Given the description of an element on the screen output the (x, y) to click on. 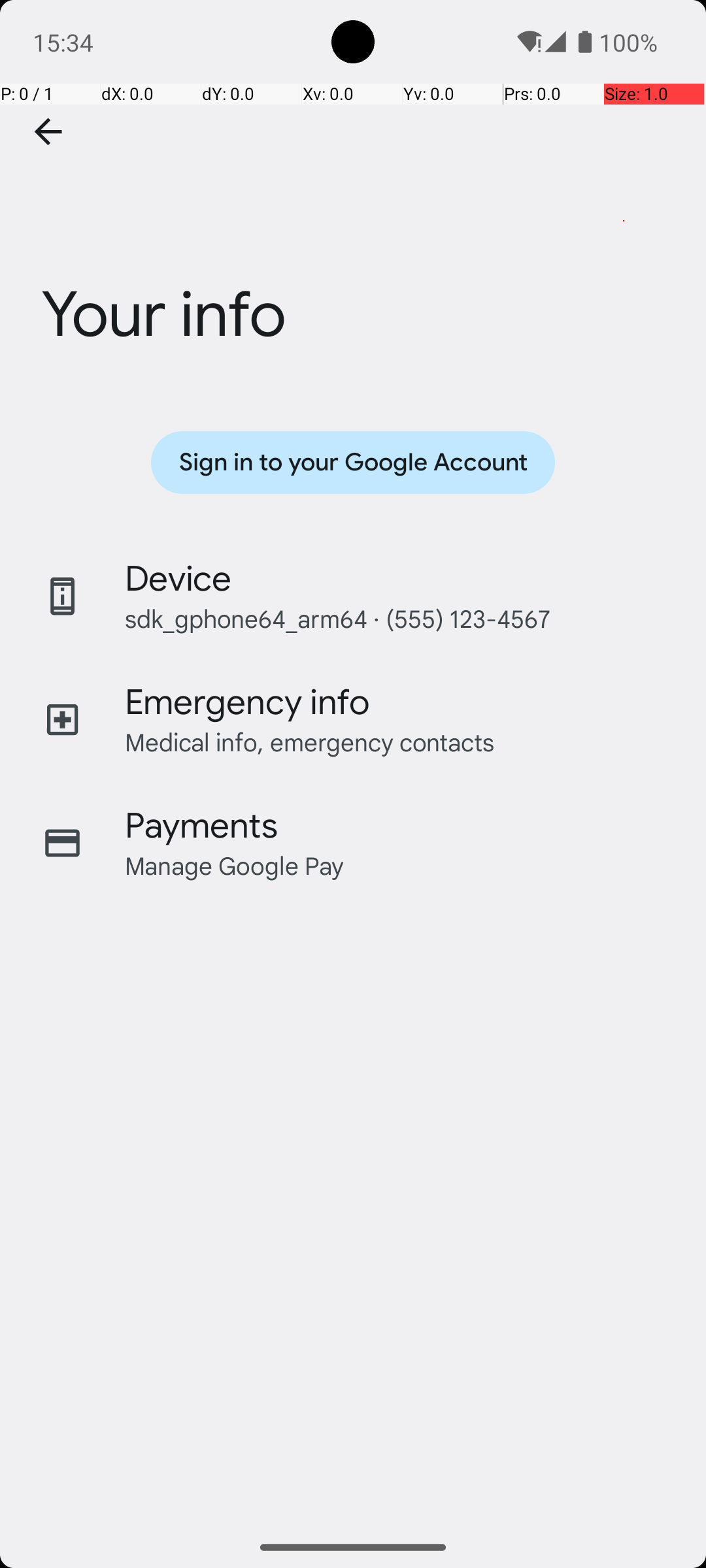
Sign in to your Google Account Element type: android.widget.Button (352, 462)
sdk_gphone64_arm64 · (555) 123-4567 Element type: android.widget.TextView (337, 618)
Emergency info Element type: android.widget.TextView (246, 702)
Medical info, emergency contacts Element type: android.widget.TextView (309, 741)
Payments Element type: android.widget.TextView (200, 825)
Manage Google Pay Element type: android.widget.TextView (234, 865)
